Given the description of an element on the screen output the (x, y) to click on. 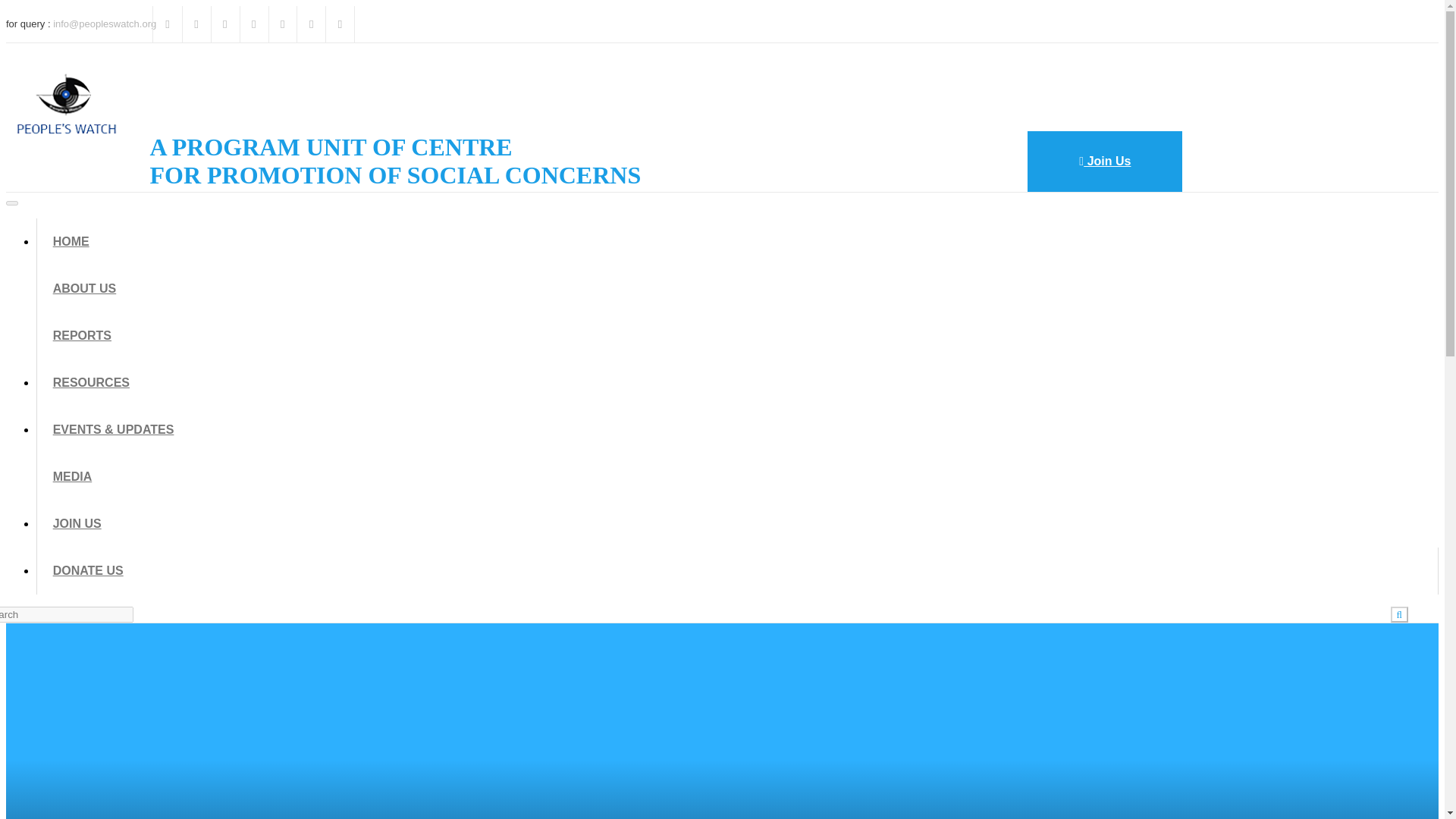
DONATE US (87, 570)
HOME (70, 241)
Join Us (1104, 161)
REPORTS (82, 335)
Home (66, 160)
RESOURCES (91, 382)
JOIN US (76, 522)
ABOUT US (84, 287)
MEDIA (72, 476)
